Given the description of an element on the screen output the (x, y) to click on. 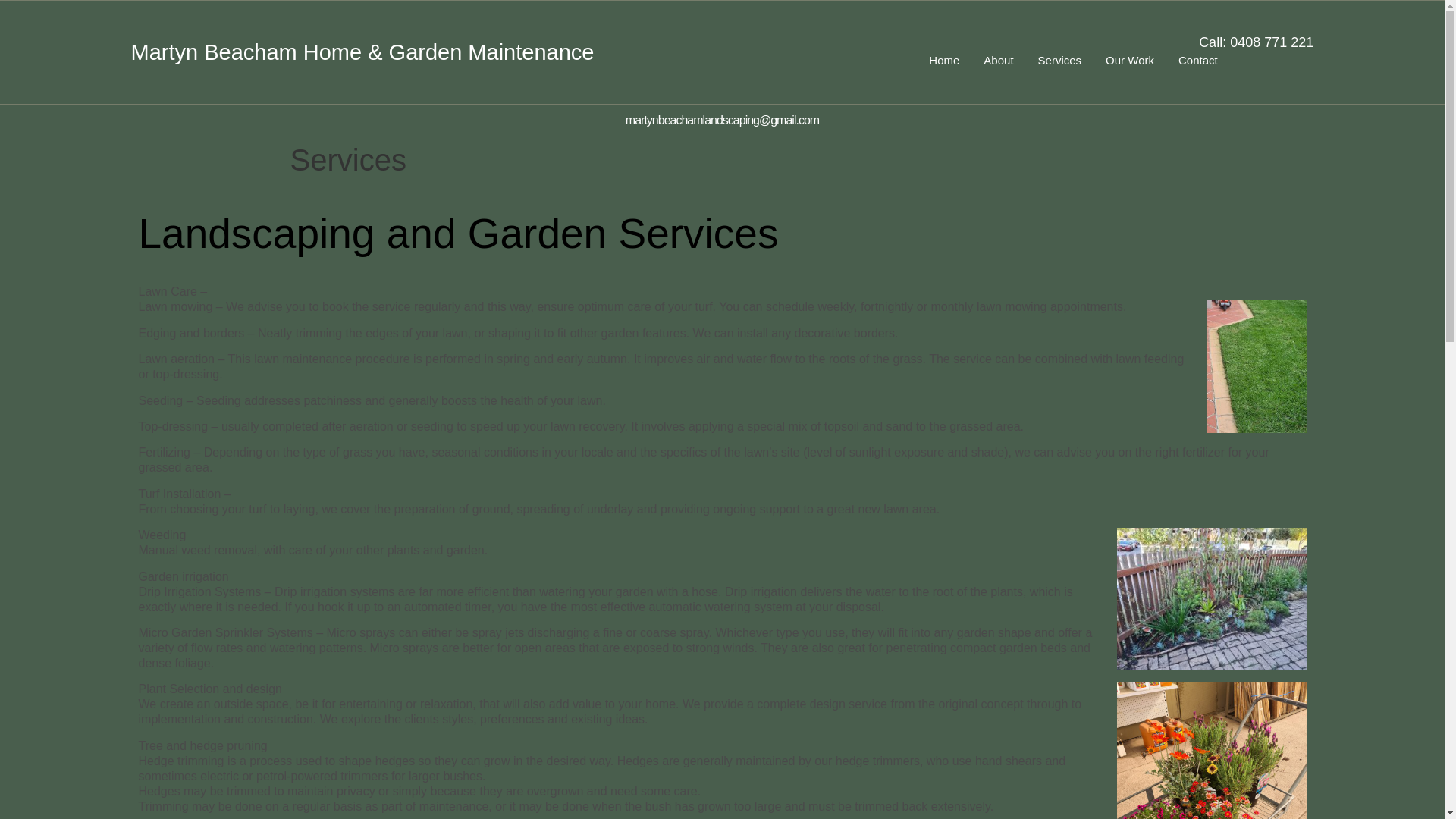
About Element type: text (998, 60)
Our Work Element type: text (1129, 60)
Services Element type: text (1060, 60)
Call: 0408 771 221 Element type: text (1255, 42)
Home Element type: text (943, 60)
Contact Element type: text (1197, 60)
